Given the description of an element on the screen output the (x, y) to click on. 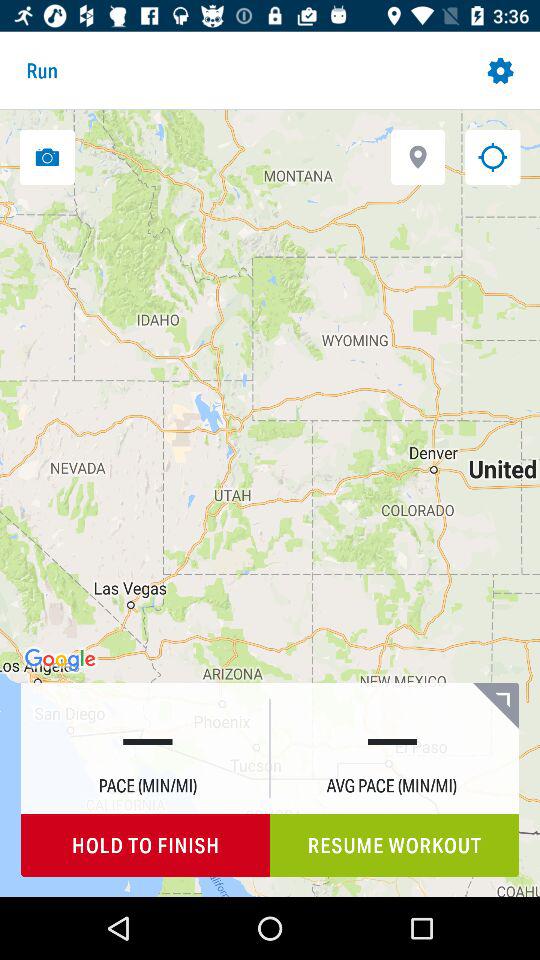
current location (492, 156)
